Given the description of an element on the screen output the (x, y) to click on. 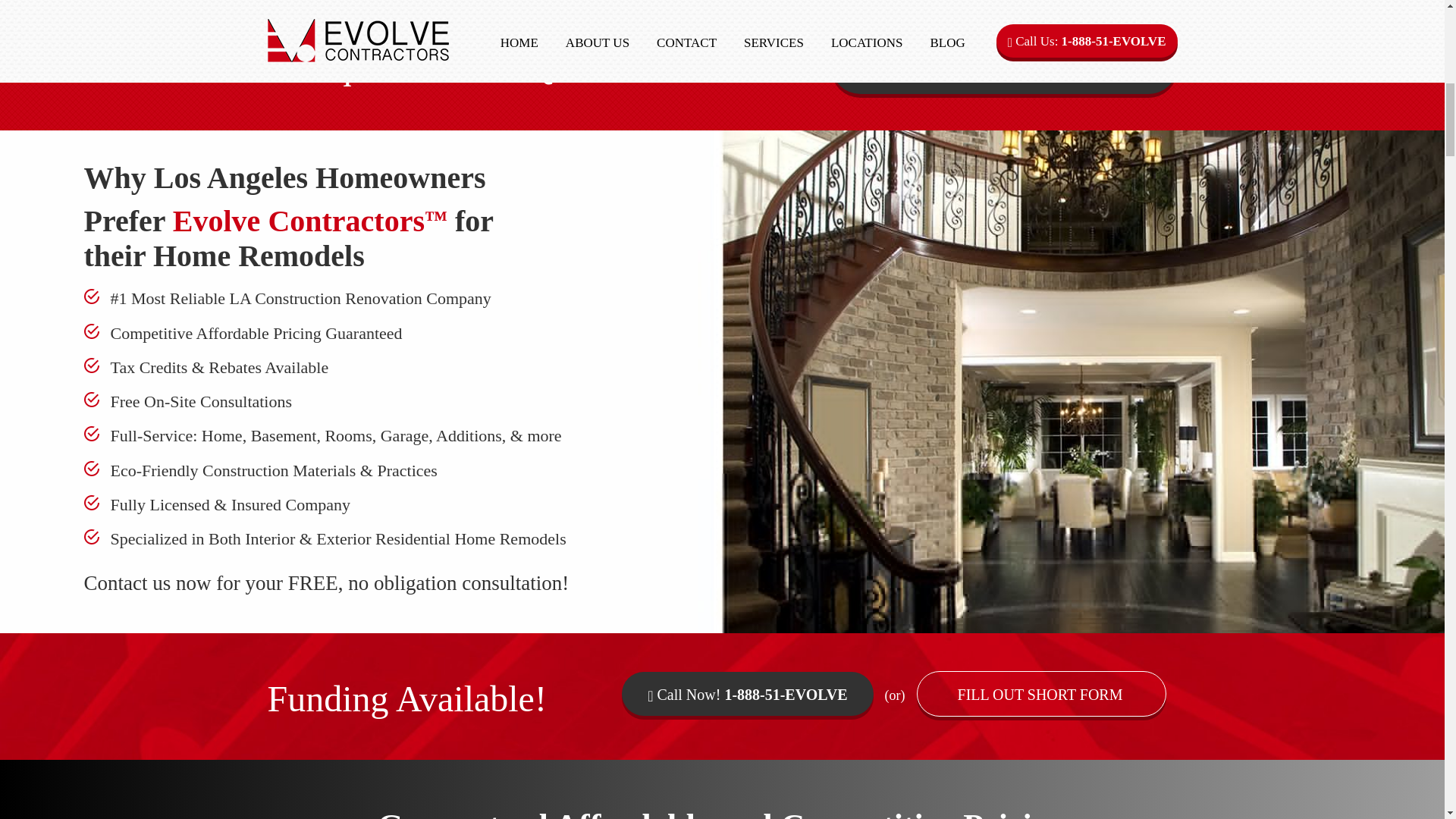
Call Now! 1-888-51-EVOLVE (746, 693)
CALL NOW! 1-888-51-EVOLVE (1003, 65)
FILL OUT SHORT FORM (1041, 693)
